Given the description of an element on the screen output the (x, y) to click on. 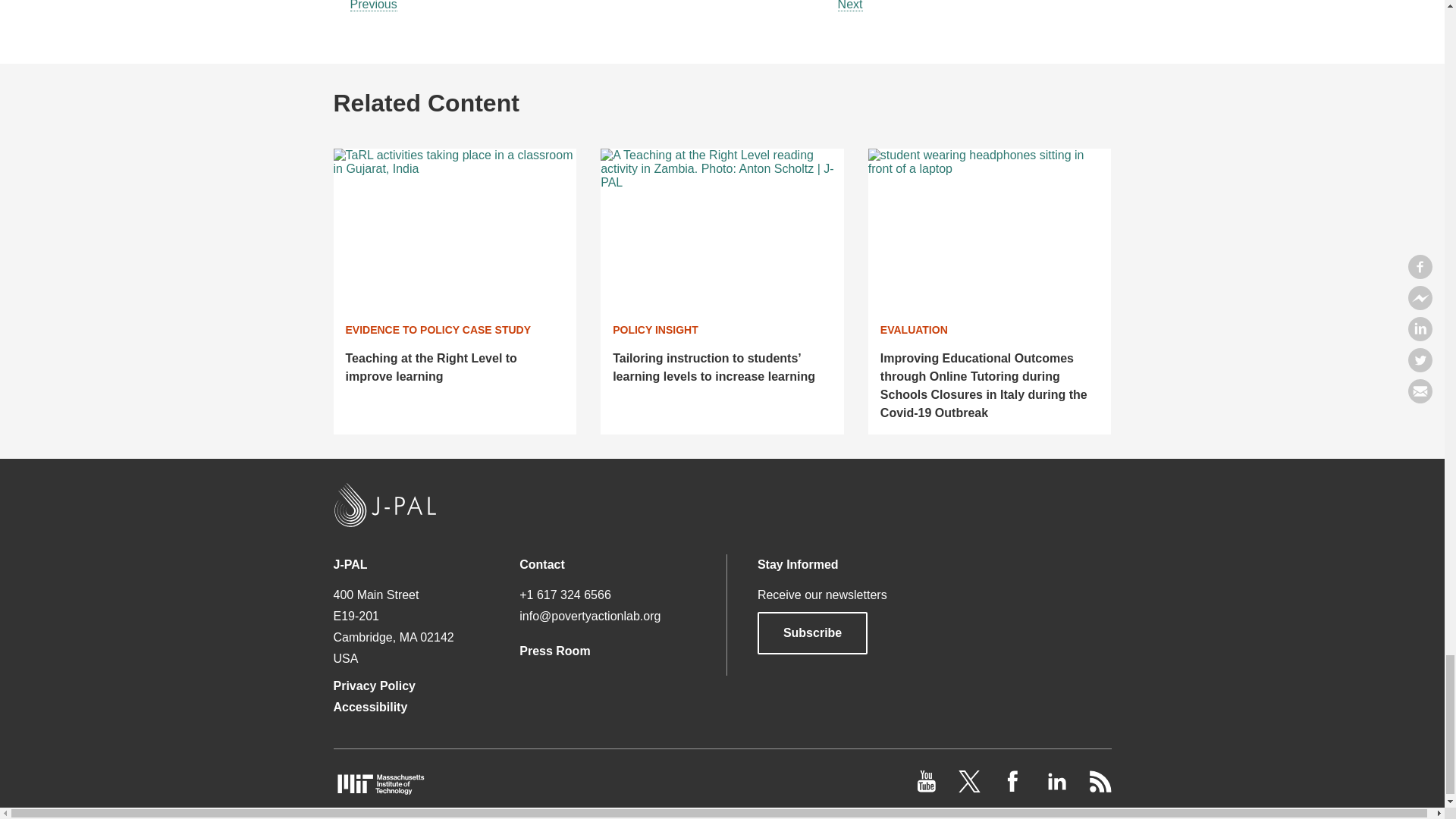
rss feed (1099, 788)
facebook (1015, 788)
youtube (927, 788)
LinkedIn (1057, 788)
twitter (971, 788)
